Given the description of an element on the screen output the (x, y) to click on. 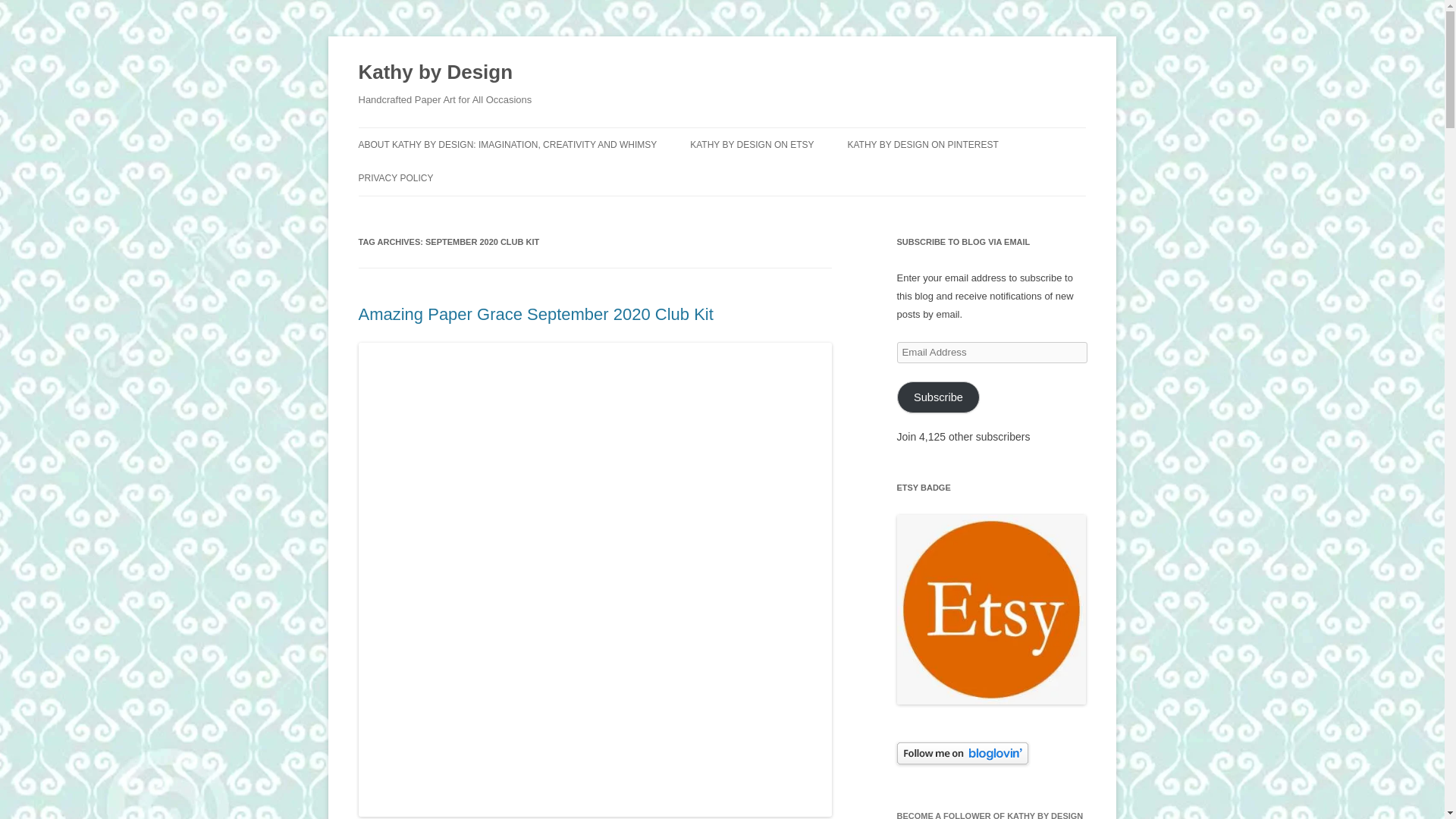
ABOUT KATHY BY DESIGN: IMAGINATION, CREATIVITY AND WHIMSY (507, 144)
KATHY BY DESIGN ON ETSY (751, 144)
Kathy by Design (435, 72)
KATHY BY DESIGN ON PINTEREST (922, 144)
Amazing Paper Grace September 2020 Club Kit (535, 313)
PRIVACY POLICY (395, 177)
